Given the description of an element on the screen output the (x, y) to click on. 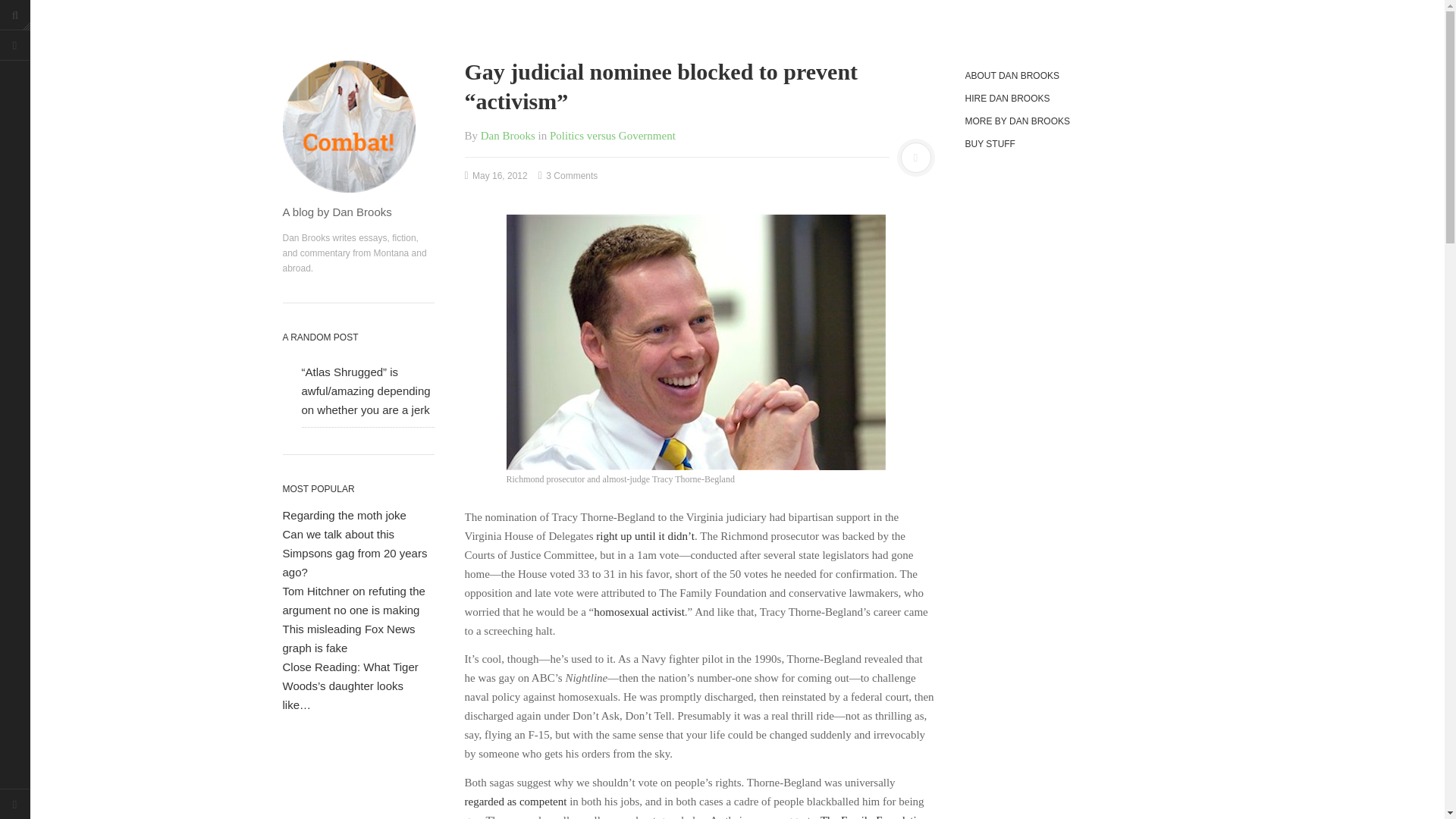
Politics versus Government (612, 134)
This misleading Fox News graph is fake (348, 638)
Combat! (357, 126)
homosexual activist (639, 611)
3 Comments (567, 174)
Tom Hitchner on refuting the argument no one is making (353, 600)
MORE BY DAN BROOKS (1064, 120)
12:15 pm (495, 174)
The Family Foundation (874, 816)
Can we talk about this Simpsons gag from 20 years ago? (354, 552)
